Given the description of an element on the screen output the (x, y) to click on. 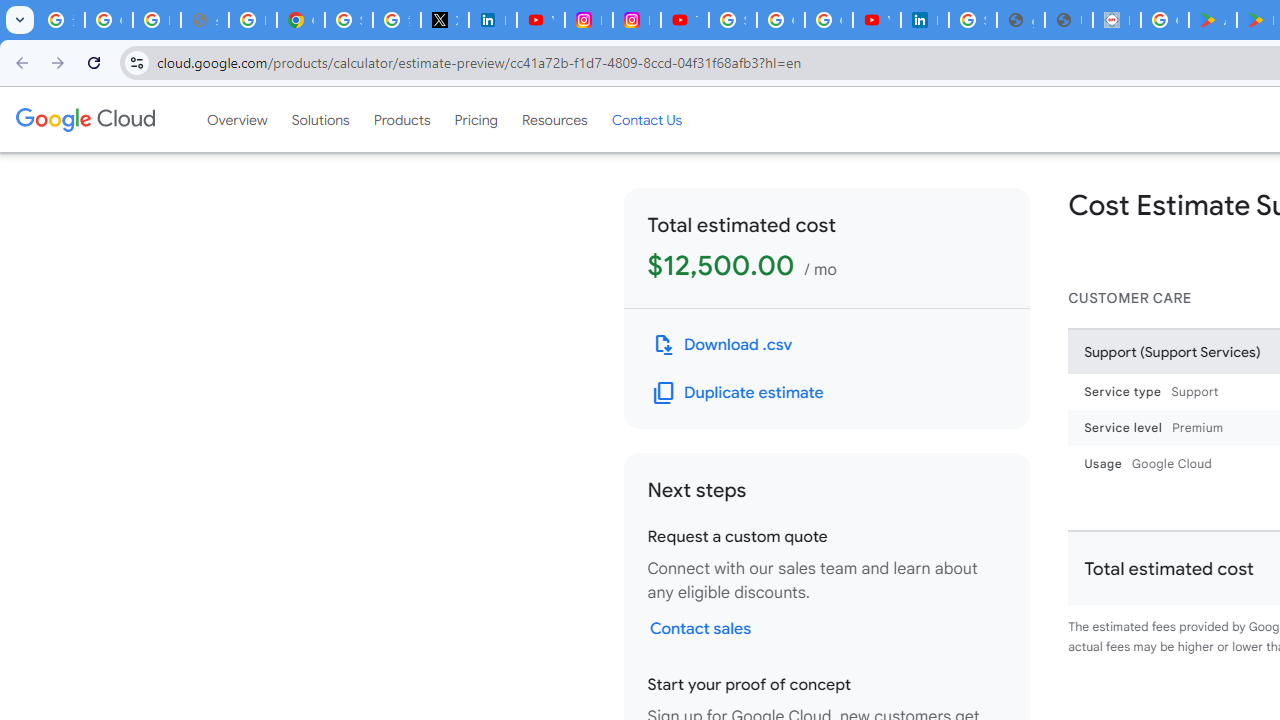
Sign in - Google Accounts (732, 20)
X (444, 20)
Resources (553, 119)
Solutions (320, 119)
Contact Us (646, 119)
support.google.com - Network error (204, 20)
YouTube Content Monetization Policies - How YouTube Works (540, 20)
